Given the description of an element on the screen output the (x, y) to click on. 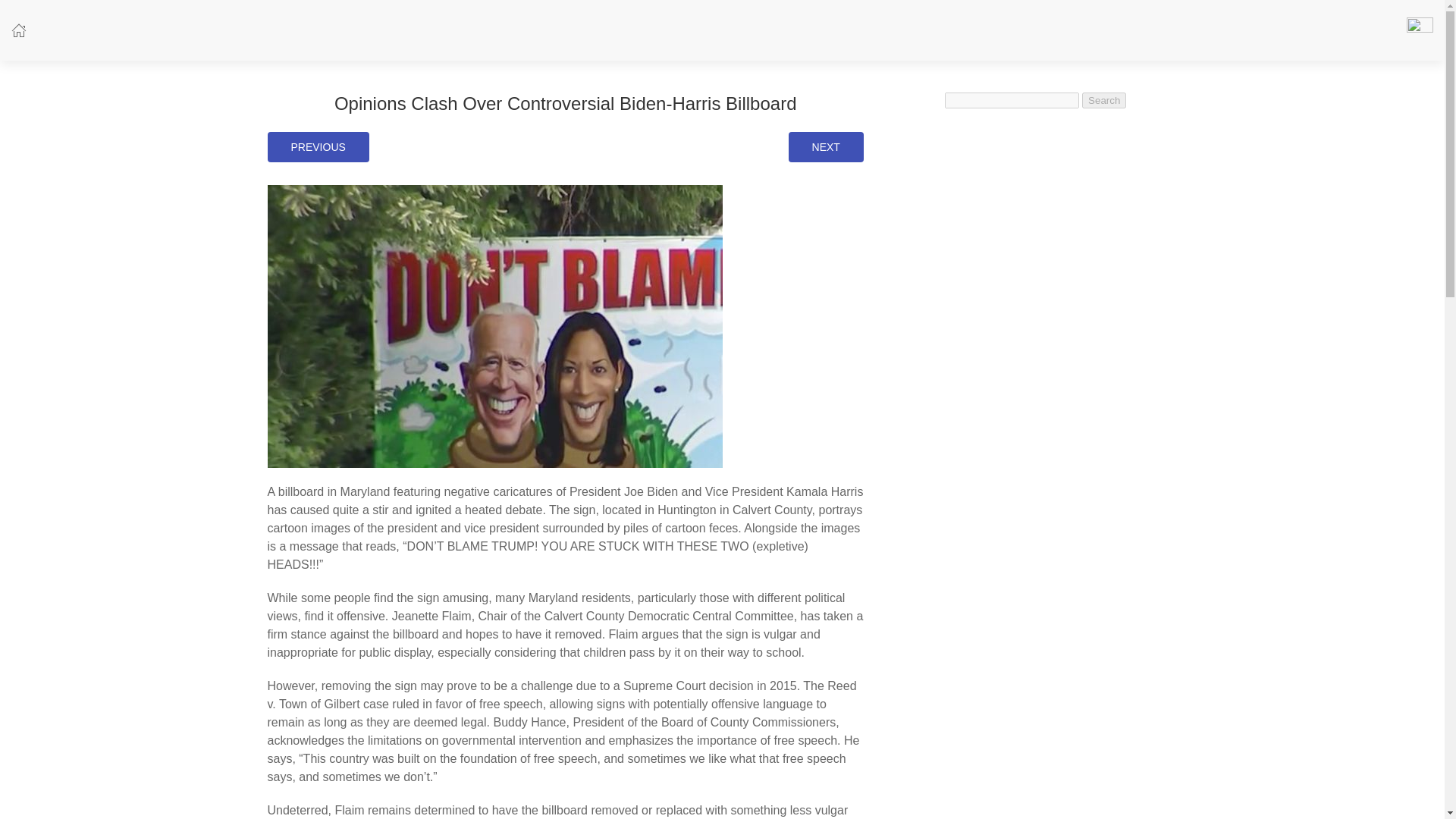
Search (1103, 100)
Search (1103, 100)
PREVIOUS (317, 146)
NEXT (826, 146)
